Given the description of an element on the screen output the (x, y) to click on. 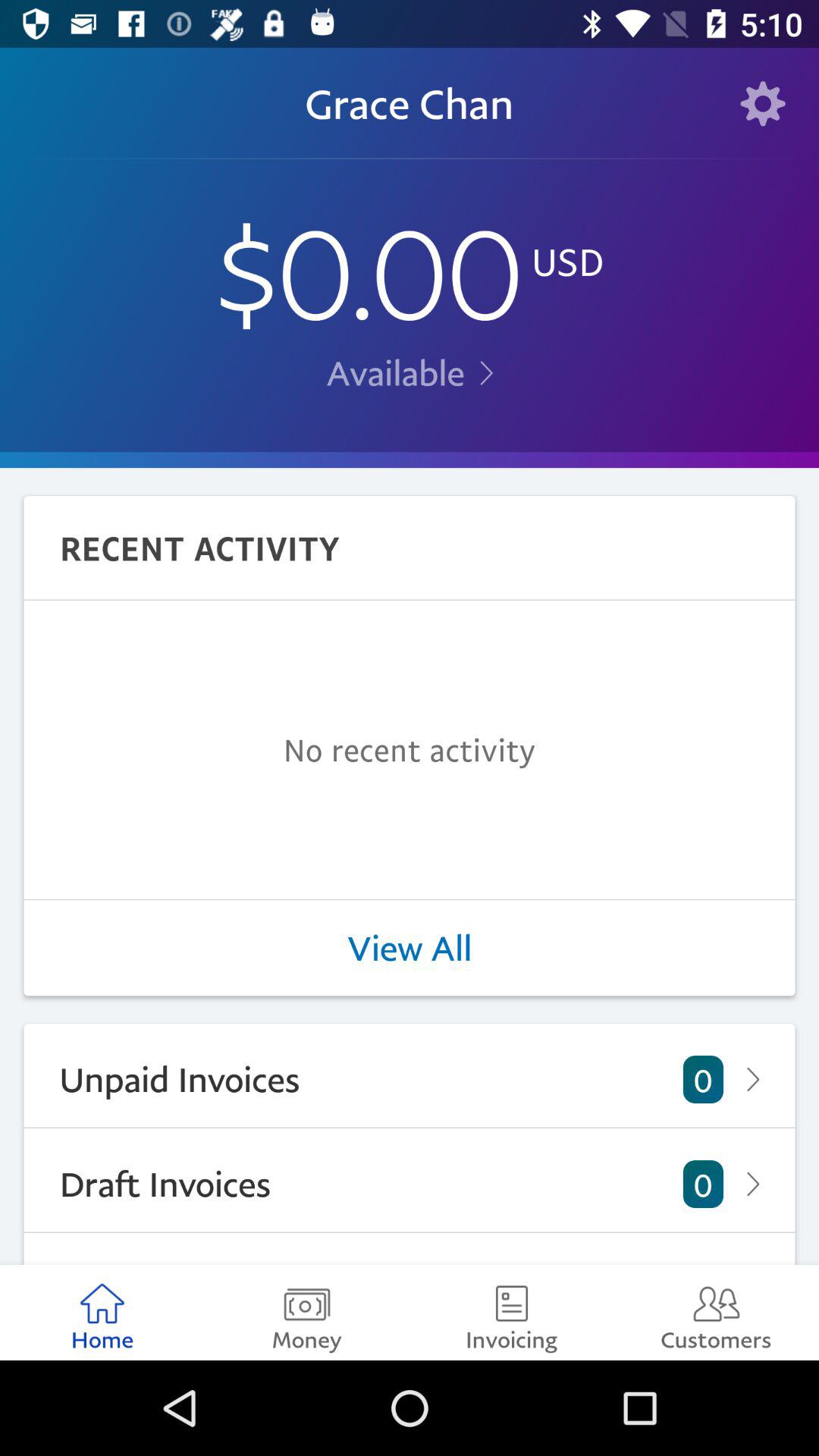
flip to create new invoice item (409, 1248)
